Given the description of an element on the screen output the (x, y) to click on. 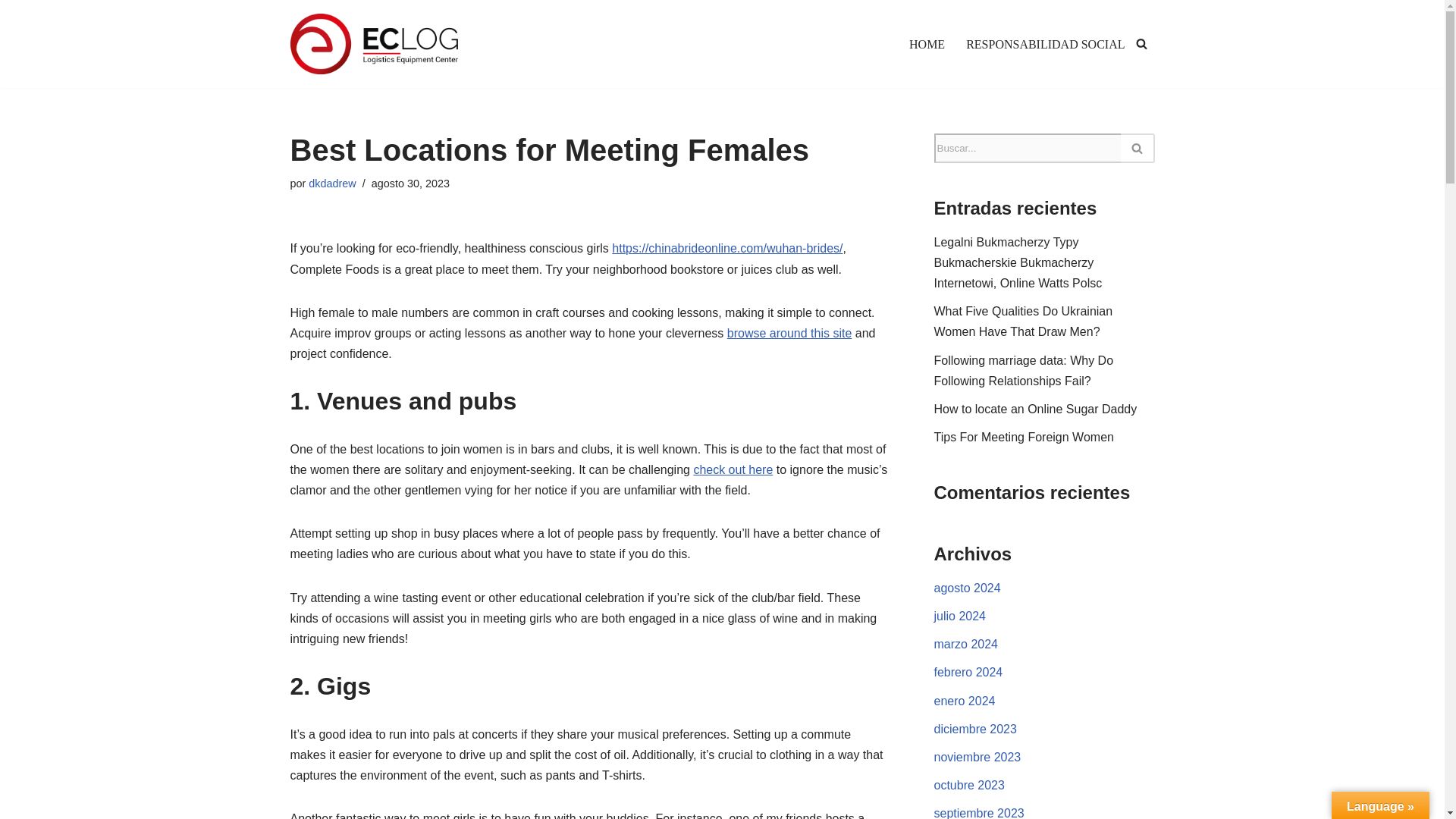
How to locate an Online Sugar Daddy (1035, 408)
check out here (733, 469)
noviembre 2023 (978, 757)
HOME (926, 44)
What Five Qualities Do Ukrainian Women Have That Draw Men? (1023, 321)
RESPONSABILIDAD SOCIAL (1045, 44)
Saltar al contenido (11, 31)
Entradas de dkdadrew (331, 183)
